Given the description of an element on the screen output the (x, y) to click on. 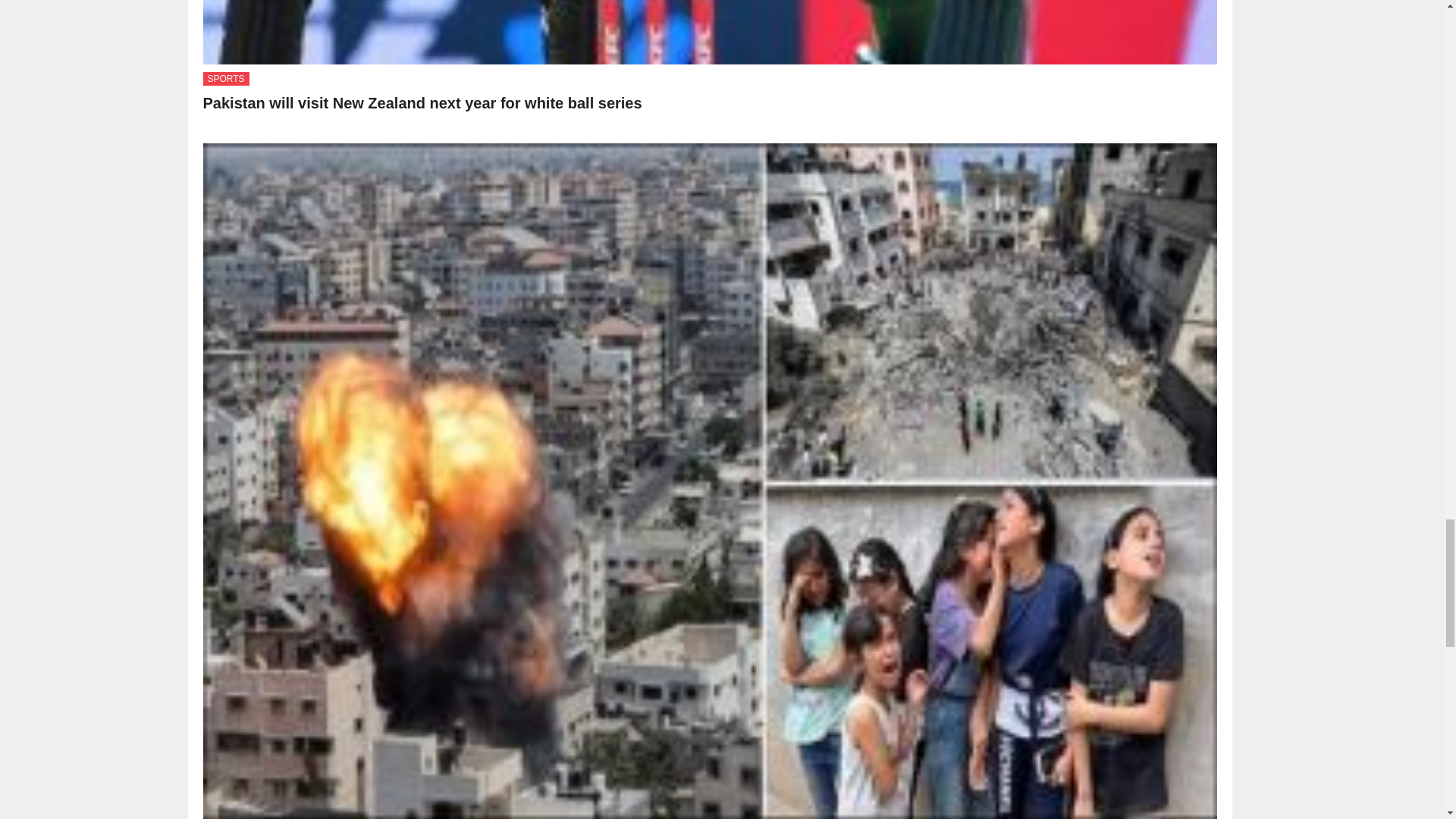
SPORTS (225, 78)
